Given the description of an element on the screen output the (x, y) to click on. 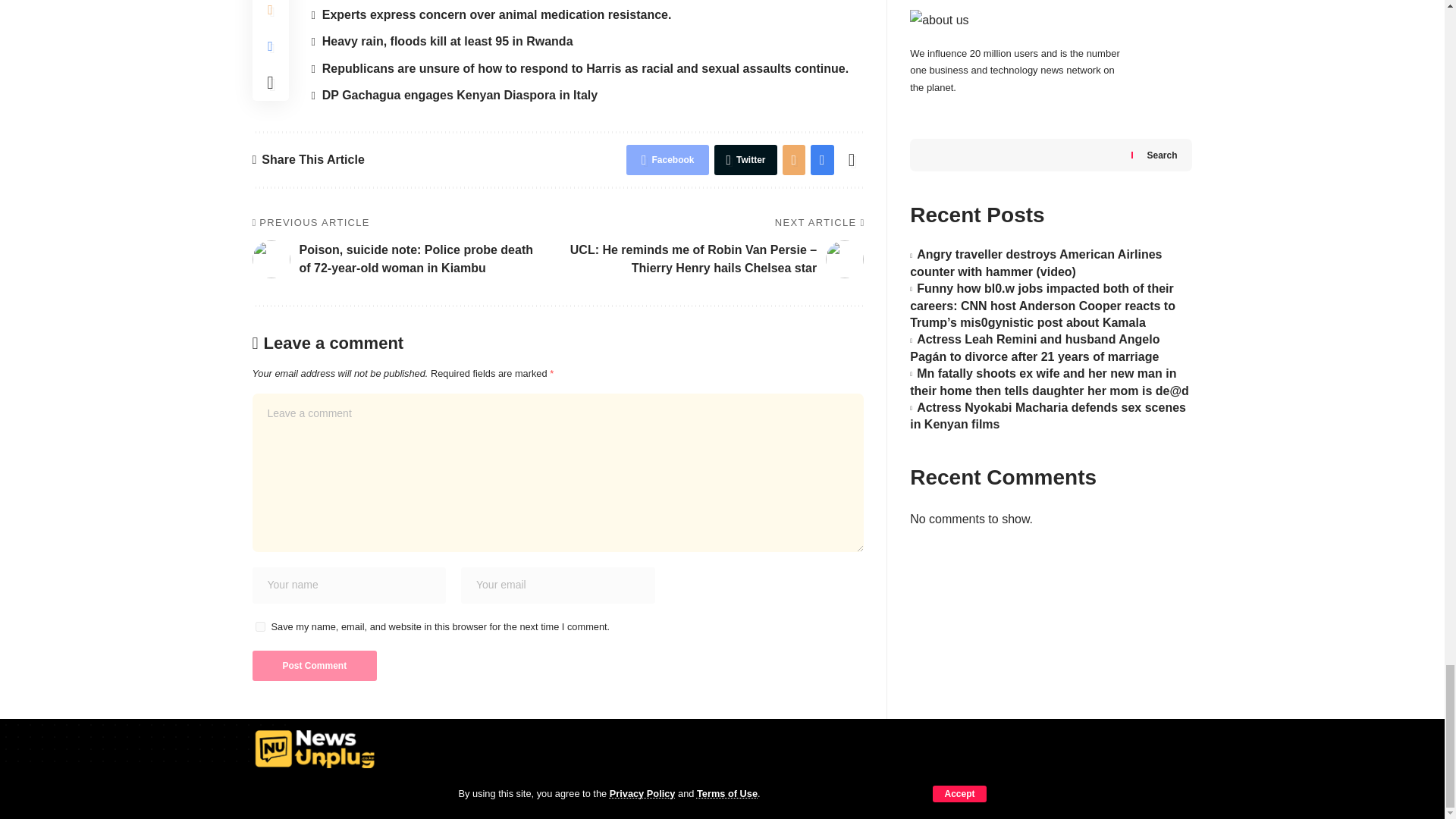
Newsunplug Kenya (314, 749)
Post Comment (314, 665)
yes (259, 626)
